Given the description of an element on the screen output the (x, y) to click on. 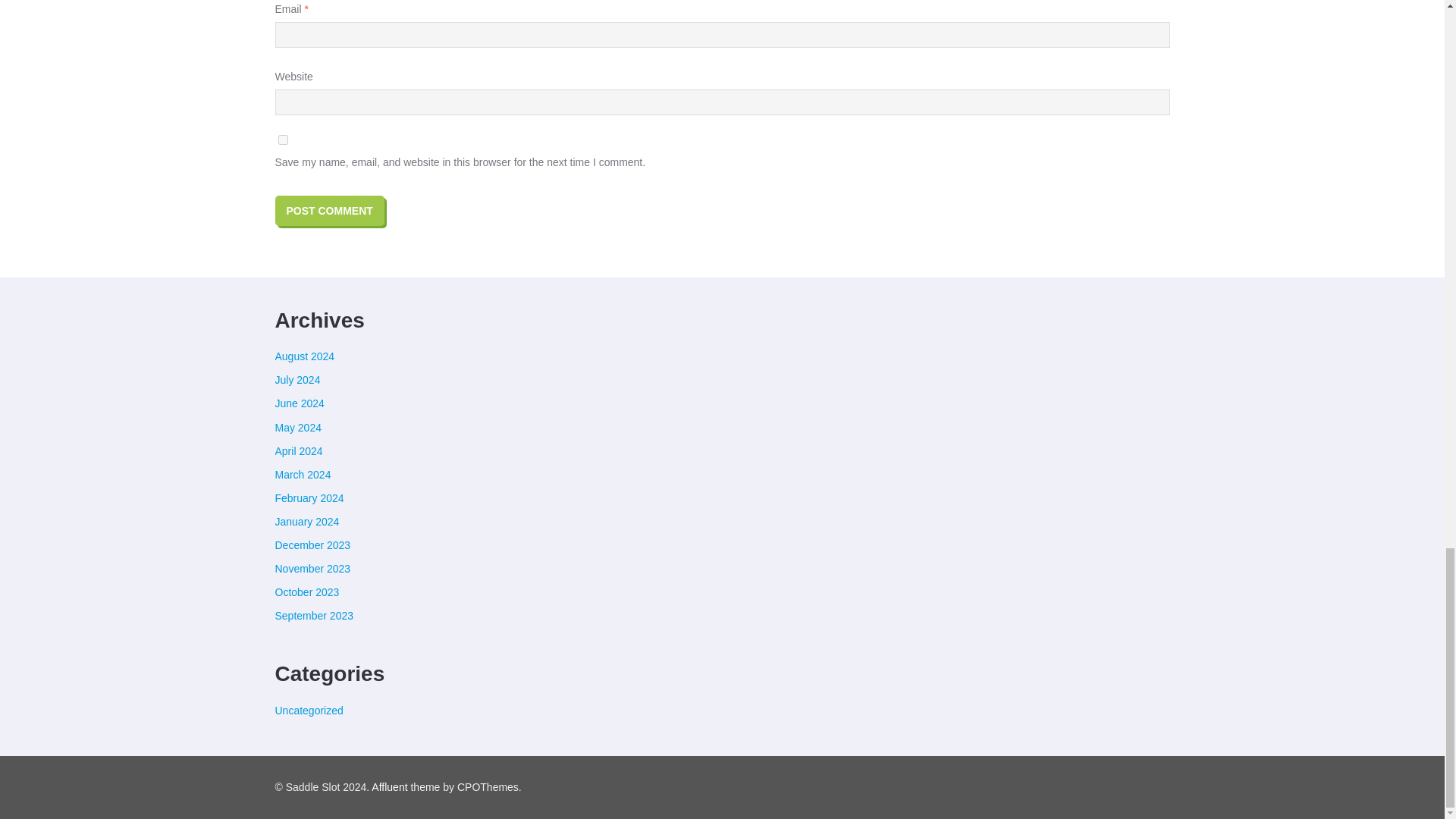
May 2024 (297, 427)
Affluent (389, 787)
July 2024 (297, 379)
August 2024 (304, 356)
April 2024 (298, 451)
September 2023 (314, 615)
Post Comment (329, 210)
June 2024 (299, 403)
November 2023 (312, 568)
December 2023 (312, 544)
yes (282, 139)
January 2024 (307, 521)
October 2023 (307, 592)
Uncategorized (308, 710)
February 2024 (309, 498)
